Given the description of an element on the screen output the (x, y) to click on. 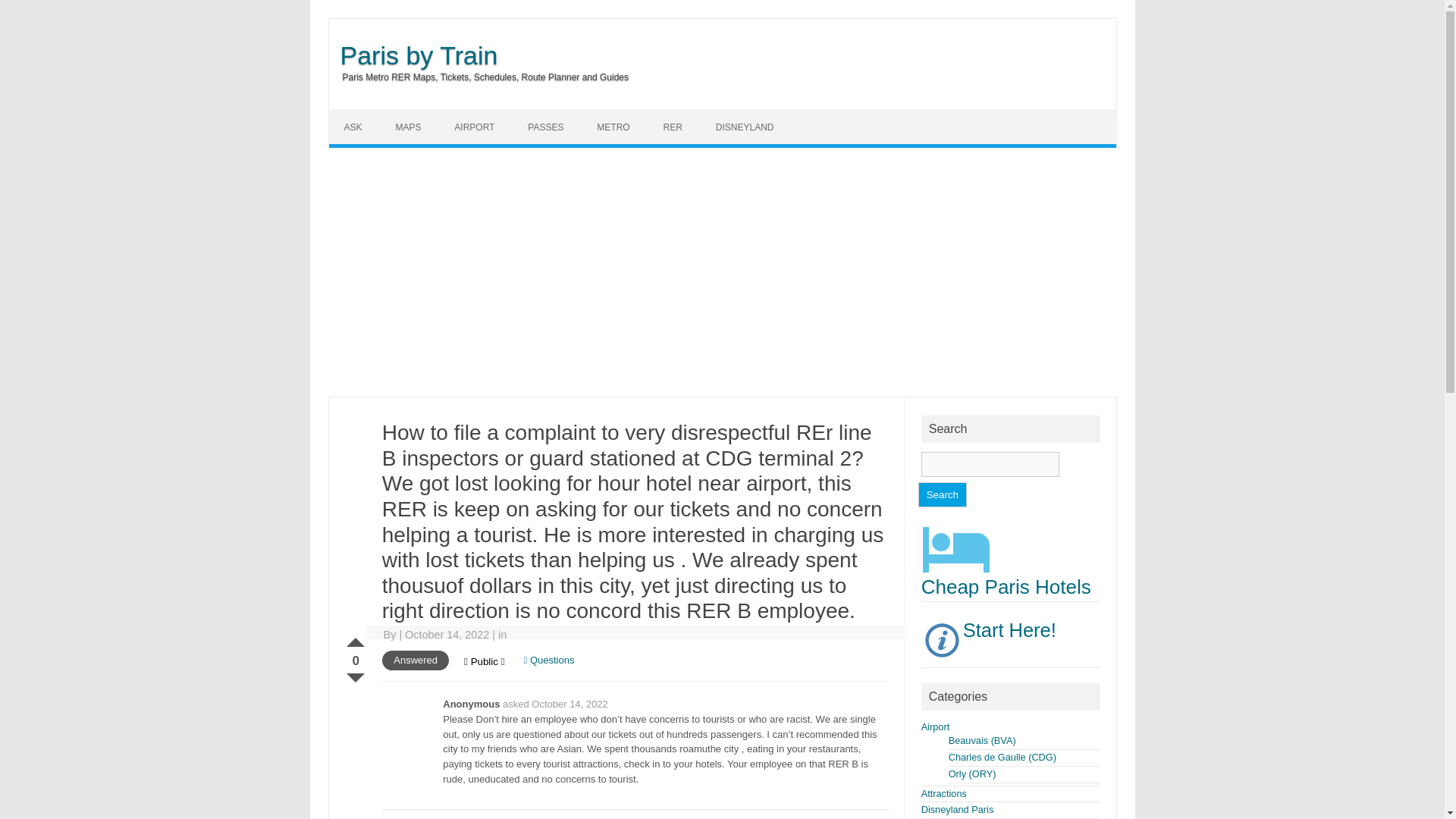
Paris by Train (413, 54)
Questions (549, 659)
AIRPORT (474, 127)
Public (483, 661)
asked October 14, 2022 (555, 704)
Vote Down (354, 674)
Vote Up (354, 639)
Skip to content (757, 114)
Skip to content (757, 114)
Search (942, 494)
Paris by Train (413, 54)
VOTE UP (354, 639)
VOTE DOWN (354, 674)
